Given the description of an element on the screen output the (x, y) to click on. 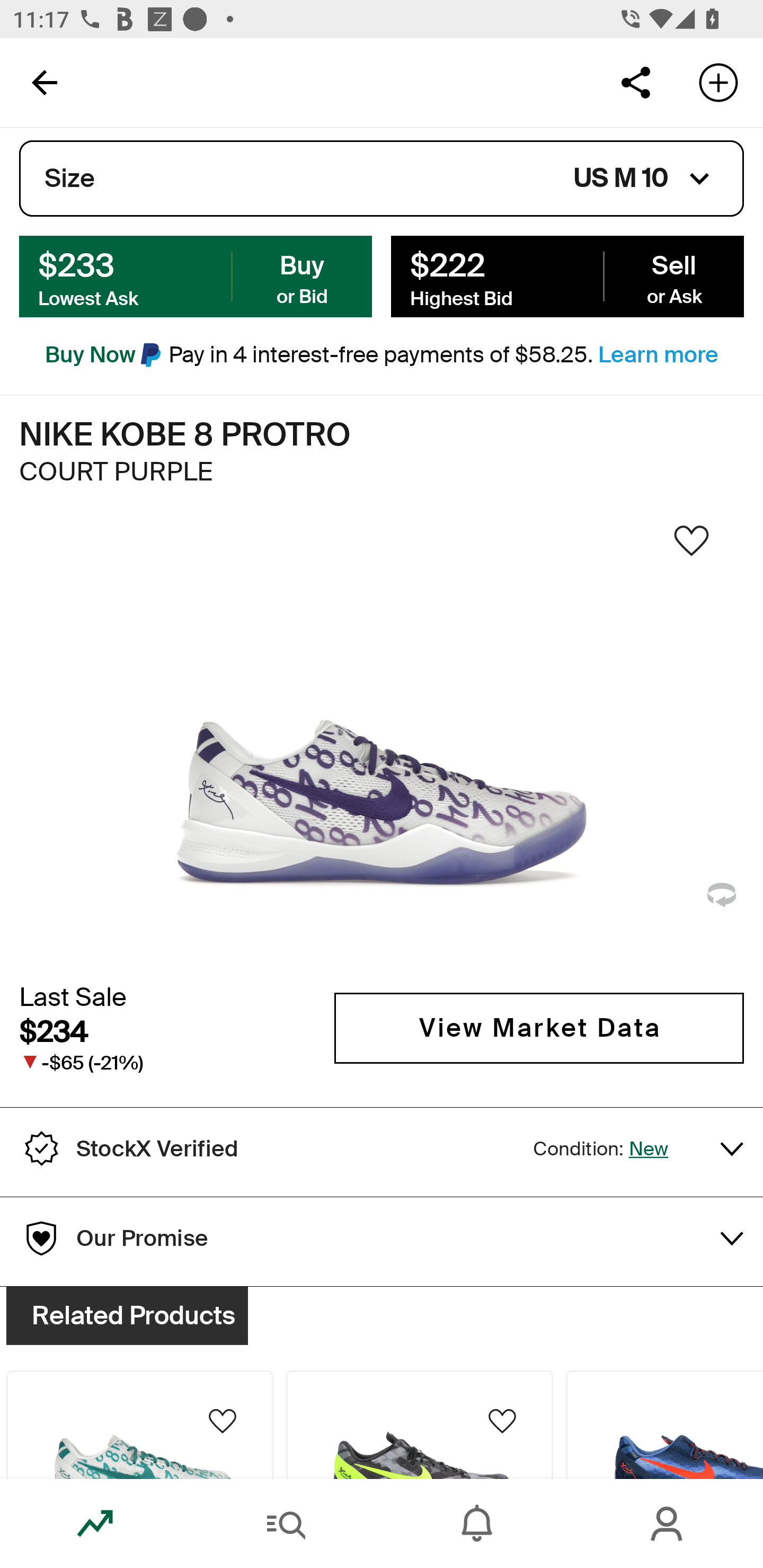
Share (635, 81)
Add (718, 81)
Size US M 10 (381, 178)
$233 Buy Lowest Ask or Bid (195, 275)
$222 Sell Highest Bid or Ask (566, 275)
Sneaker Image (381, 745)
View Market Data (538, 1027)
Search (285, 1523)
Inbox (476, 1523)
Account (667, 1523)
